Given the description of an element on the screen output the (x, y) to click on. 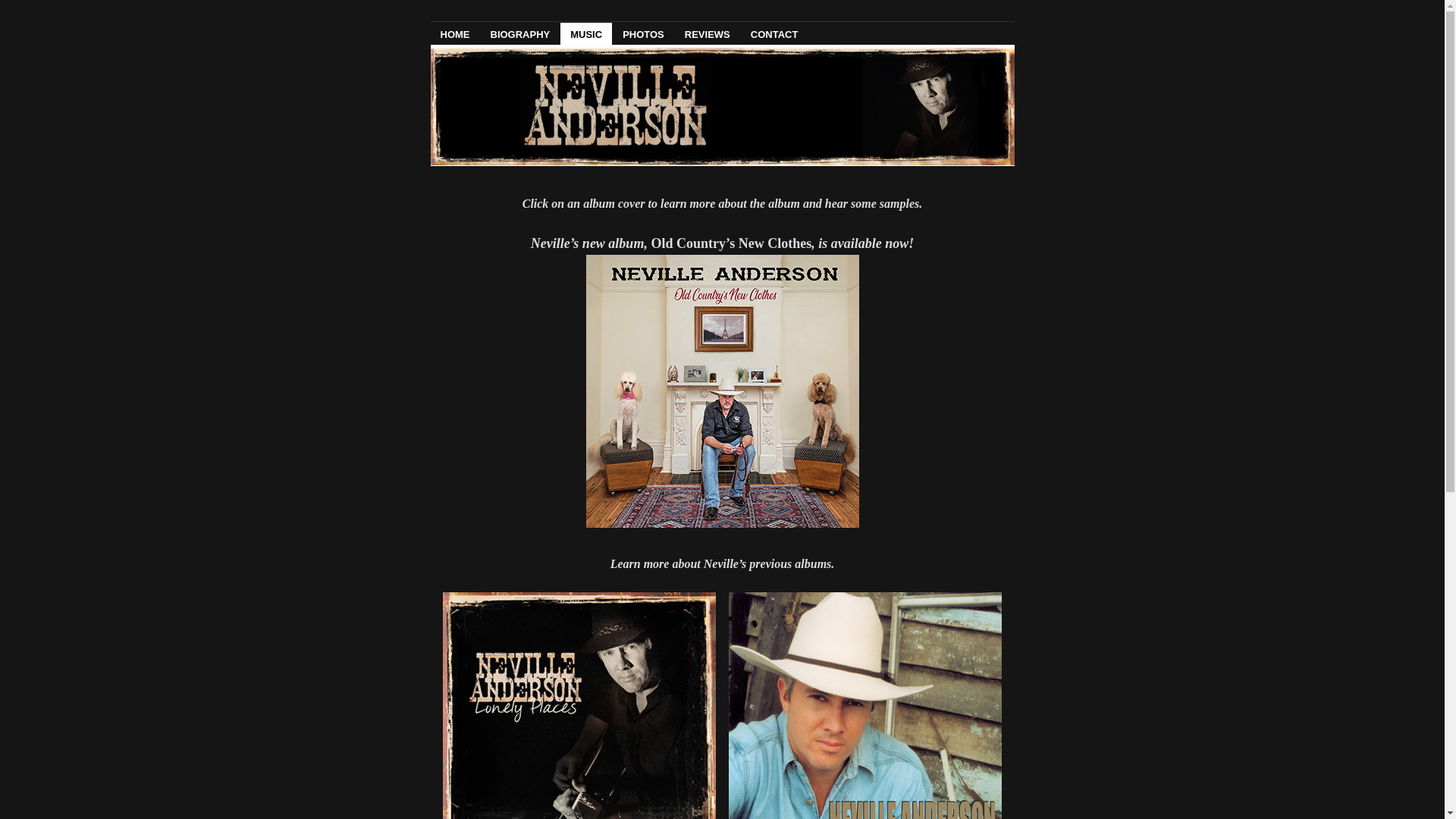
REVIEWS Element type: text (707, 33)
CONTACT Element type: text (774, 33)
BIOGRAPHY Element type: text (520, 33)
MUSIC Element type: text (585, 33)
HOME Element type: text (455, 33)
PHOTOS Element type: text (643, 33)
